Given the description of an element on the screen output the (x, y) to click on. 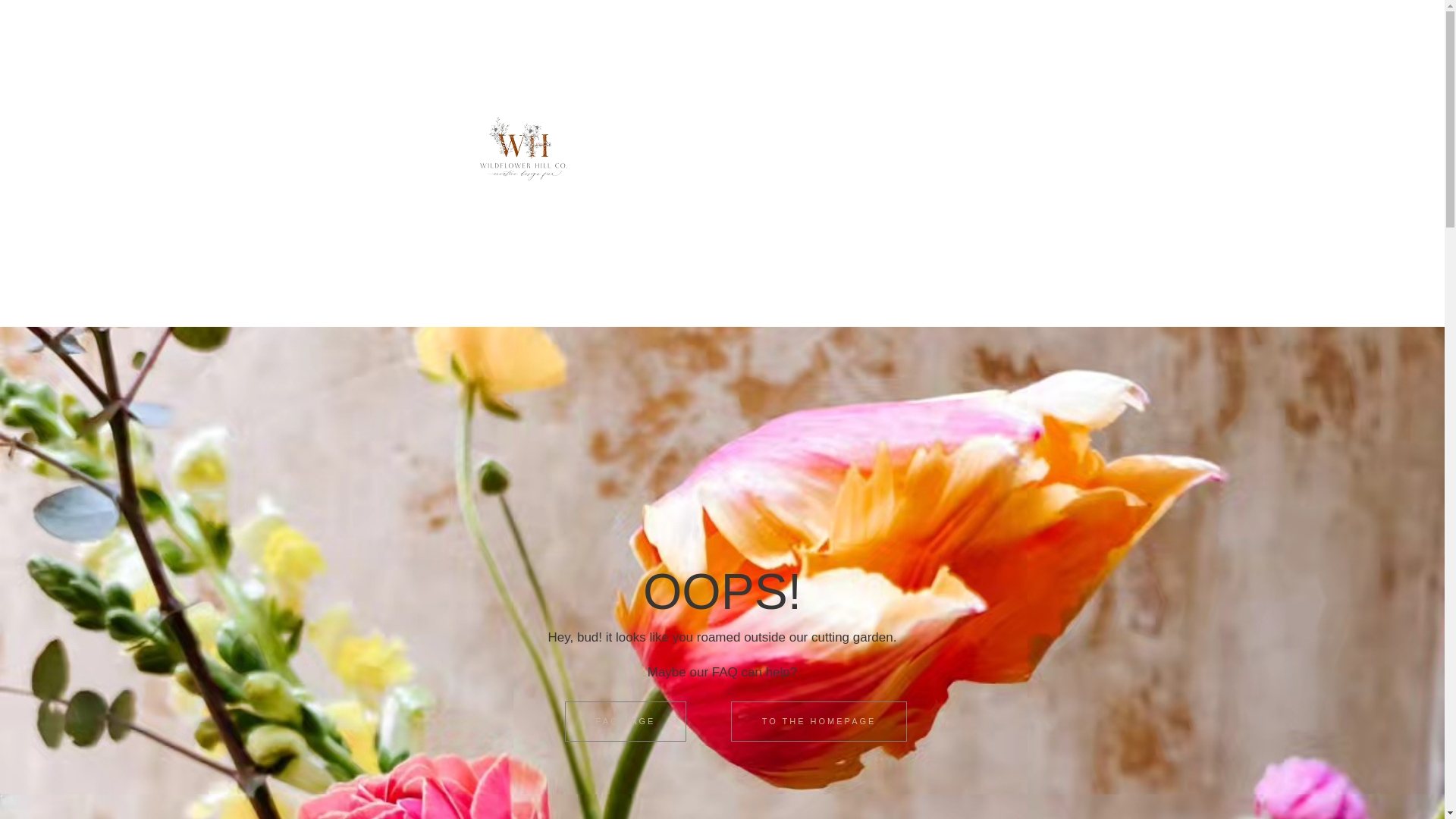
TO THE HOMEPAGE (818, 721)
FAQ PAGE (625, 721)
